Given the description of an element on the screen output the (x, y) to click on. 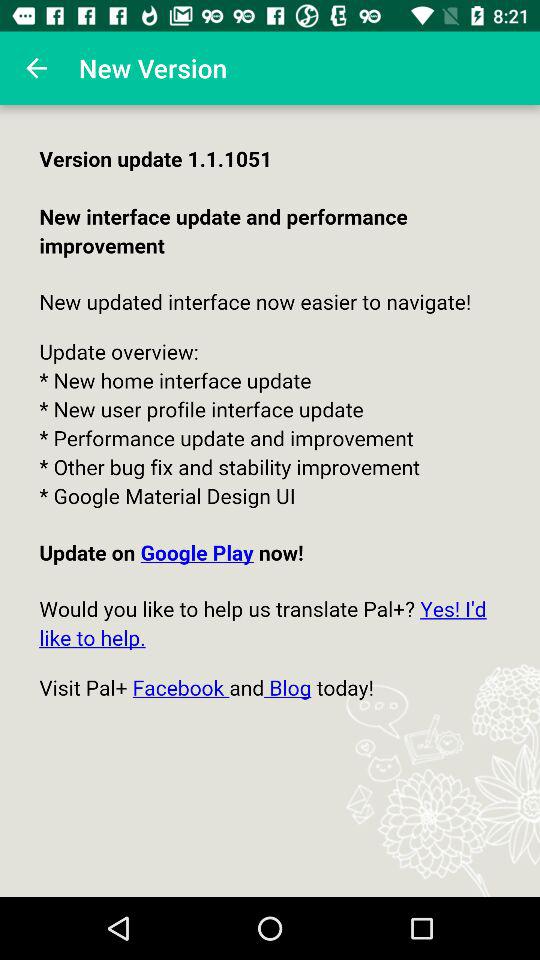
screen page (270, 501)
